Given the description of an element on the screen output the (x, y) to click on. 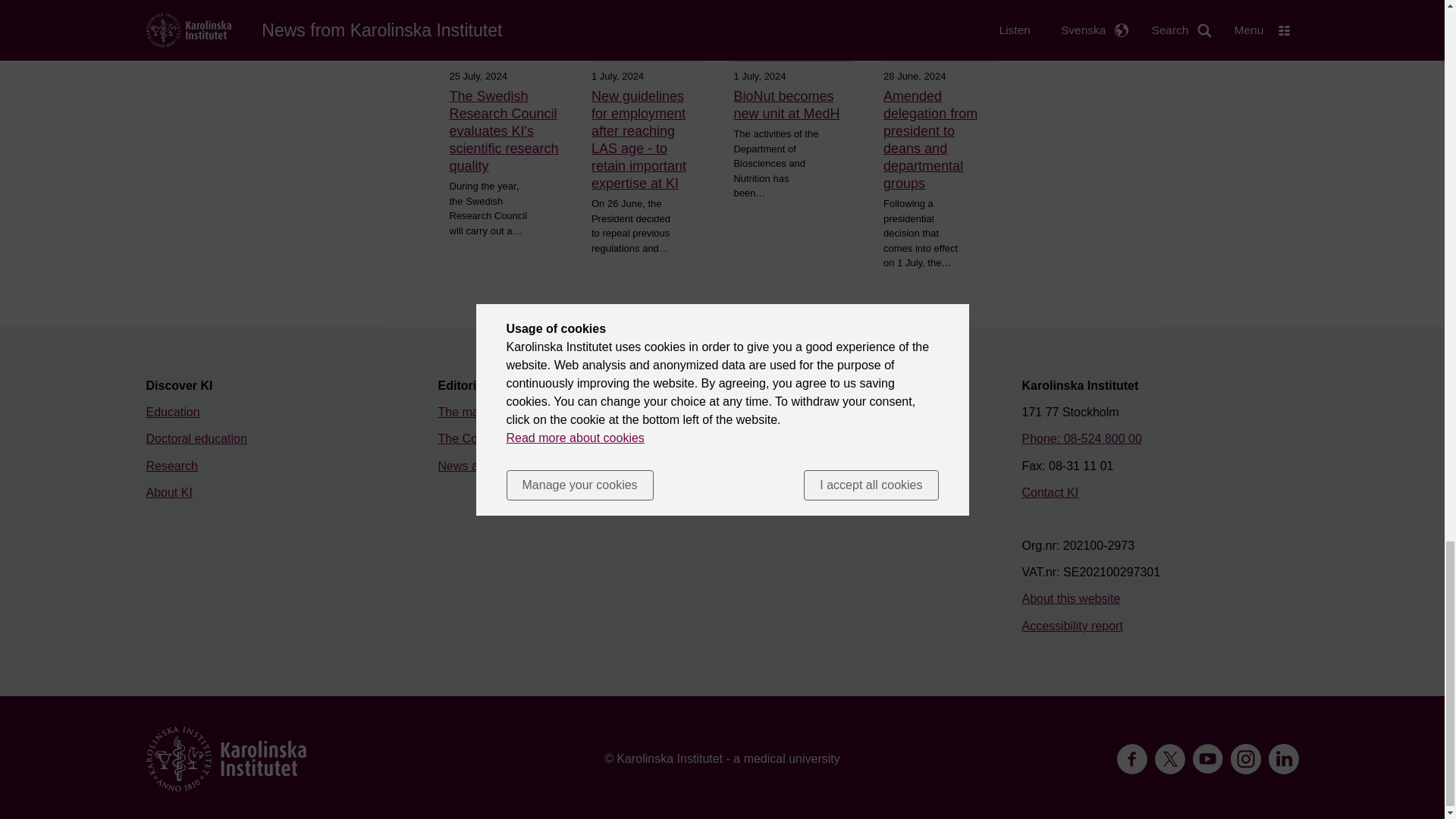
The magazine Medicinsk Vetenskap (534, 411)
Research subjects wanted (800, 438)
Doctoral education (195, 438)
The Conversation (486, 438)
News archive (474, 465)
About KI (168, 492)
Home (225, 758)
BioNut becomes new unit at MedH (793, 104)
